Given the description of an element on the screen output the (x, y) to click on. 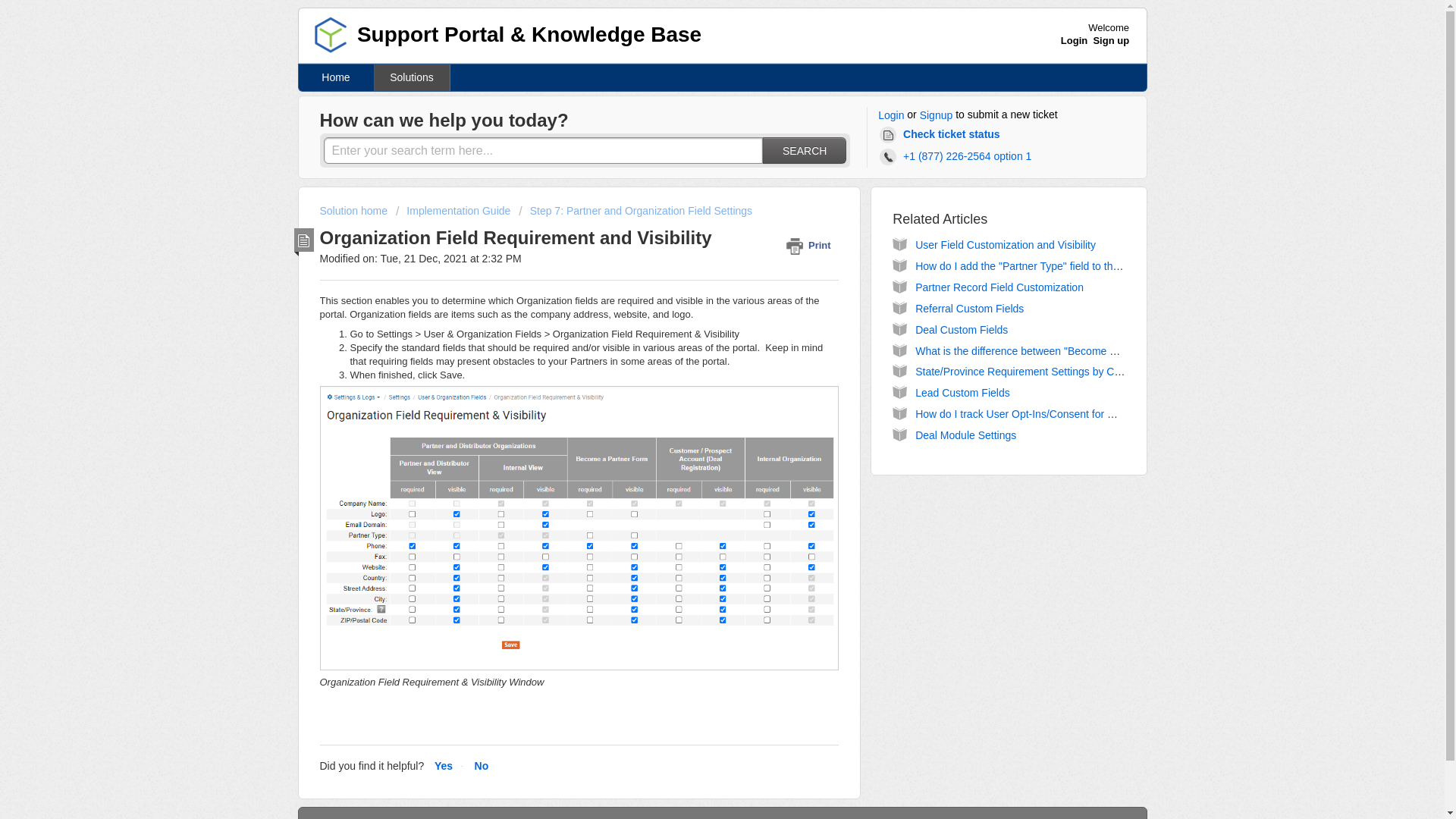
Deal Module Settings (965, 435)
Implementation Guide (454, 210)
Sign up (1111, 40)
Home (336, 77)
Login (890, 115)
Partner Record Field Customization (999, 287)
Check ticket status (941, 134)
Step 7: Partner and Organization Field Settings (635, 210)
Login (1074, 40)
Solution home (355, 210)
Referral Custom Fields (969, 308)
Print (812, 244)
Check ticket status (941, 134)
Deal Custom Fields (961, 329)
